Given the description of an element on the screen output the (x, y) to click on. 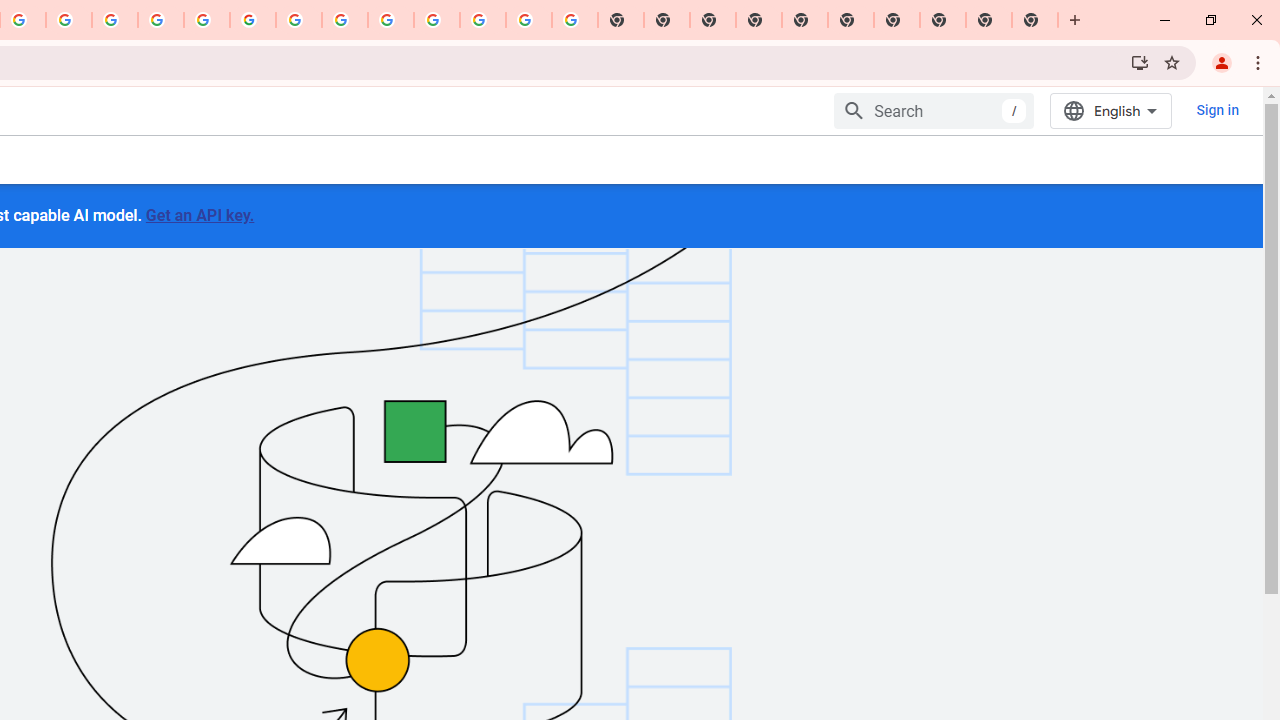
Get an API key. (199, 214)
Install Google Developers (1139, 62)
New Tab (1035, 20)
